Given the description of an element on the screen output the (x, y) to click on. 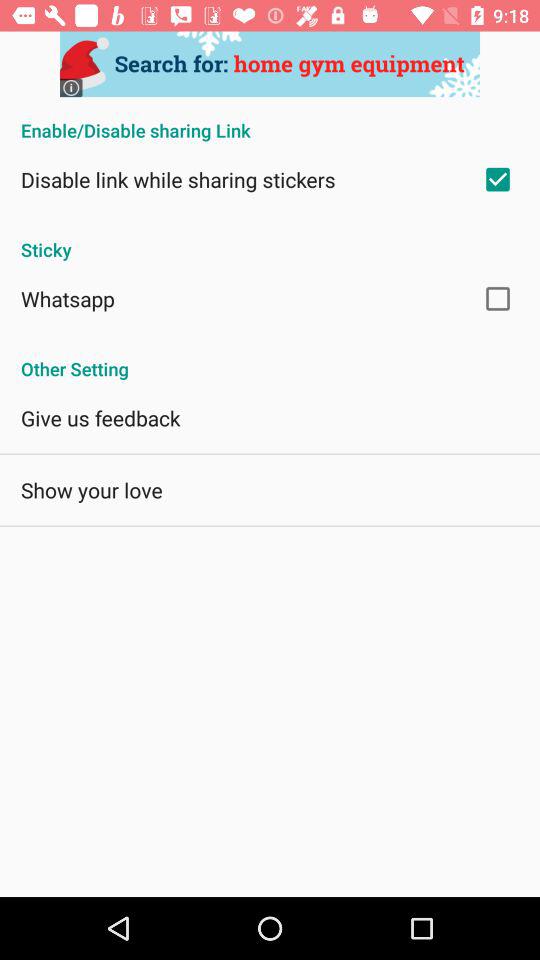
press the show your love app (91, 489)
